Given the description of an element on the screen output the (x, y) to click on. 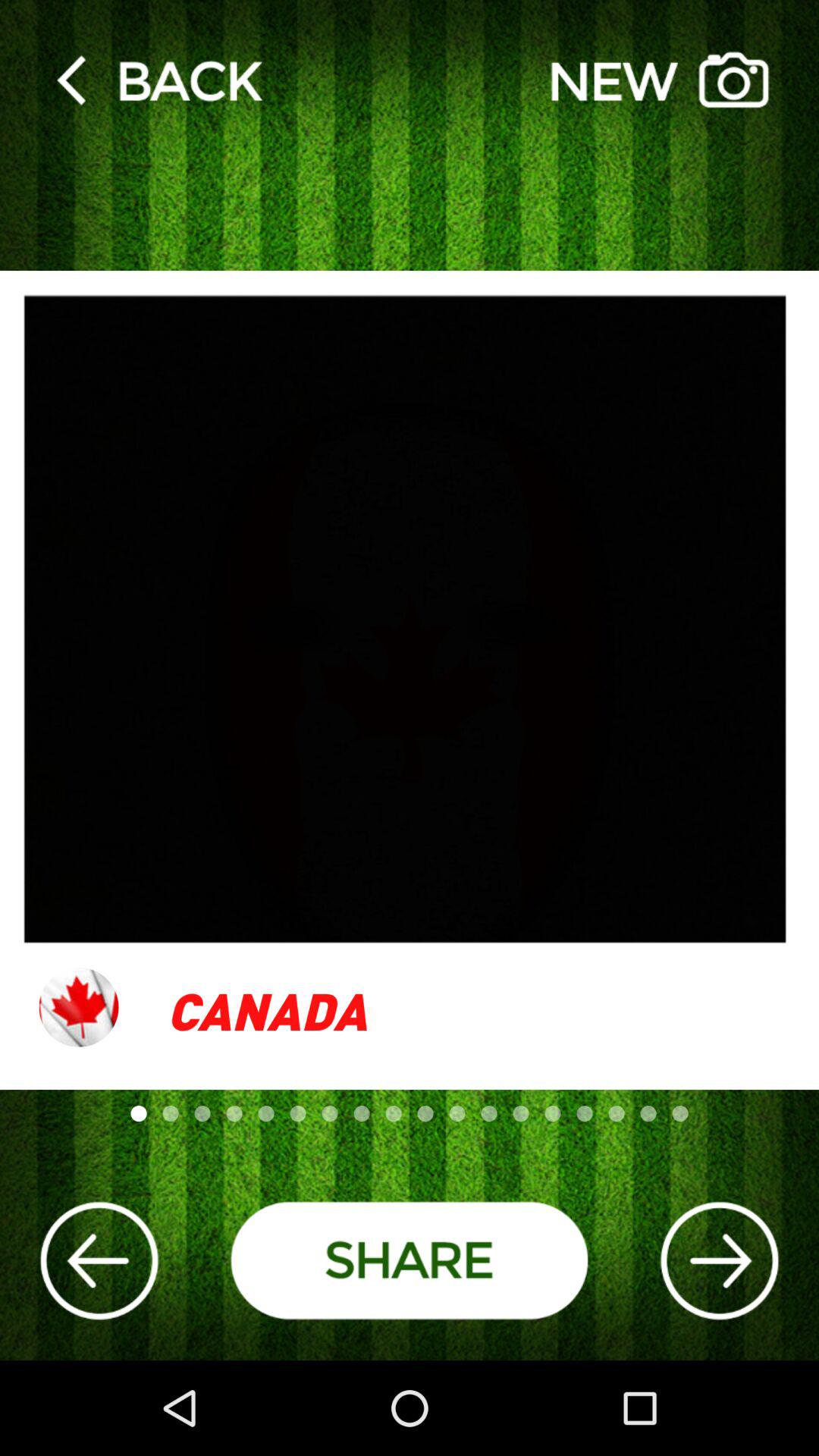
press the item at the top right corner (659, 79)
